Given the description of an element on the screen output the (x, y) to click on. 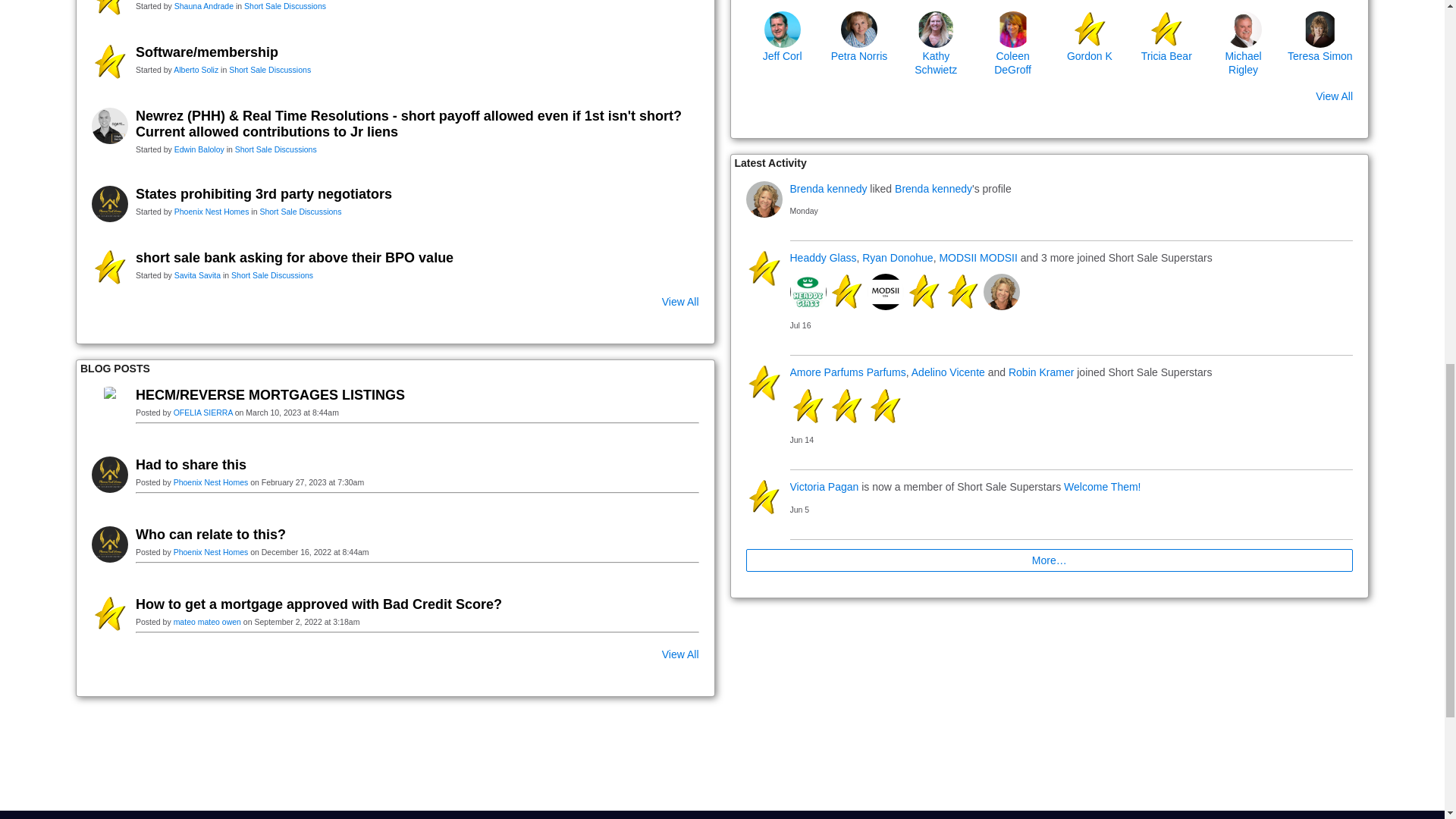
Jeff Corl (782, 29)
Michael Rigley (1243, 29)
Teresa Simon (1319, 29)
Coleen DeGroff (1012, 29)
Kathy Schwietz (935, 29)
Tricia Bear (1166, 29)
Gordon K (1089, 29)
Petra Norris (859, 29)
